Given the description of an element on the screen output the (x, y) to click on. 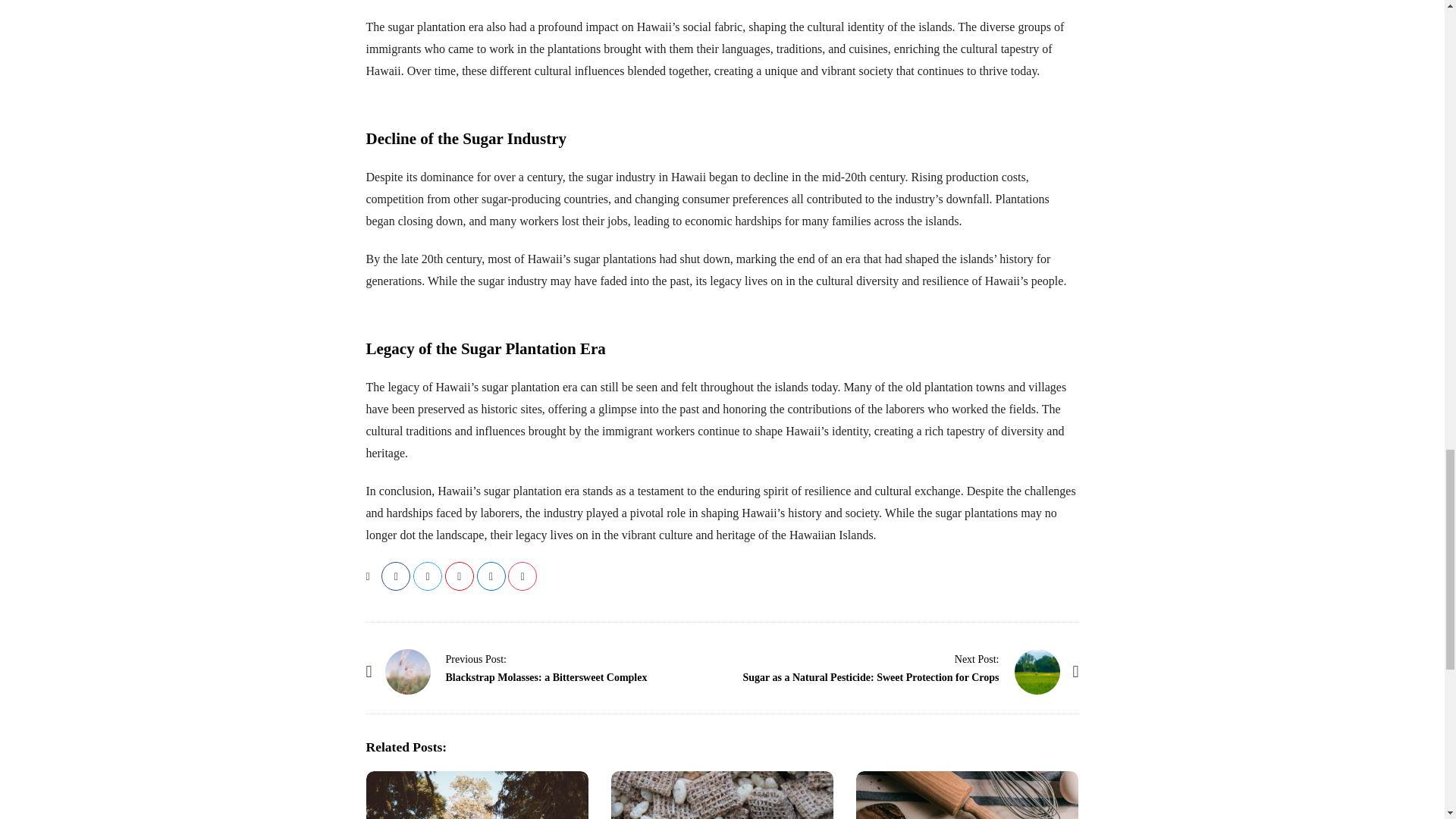
Previous Post: (475, 658)
Sugar as a Natural Pesticide: Sweet Protection for Crops (1036, 671)
Rice Malt Syrup: a Gentle Sweetener (721, 795)
Next Post: (976, 658)
Blackstrap Molasses: a Bittersweet Complex (546, 677)
Sugar as a Natural Pesticide: Sweet Protection for Crops (976, 658)
The Sugar Barons: Wealth from Sweetness (476, 795)
Blackstrap Molasses: a Bittersweet Complex (475, 658)
Sugar as a Natural Pesticide: Sweet Protection for Crops (870, 677)
Blackstrap Molasses: a Bittersweet Complex (407, 671)
